Given the description of an element on the screen output the (x, y) to click on. 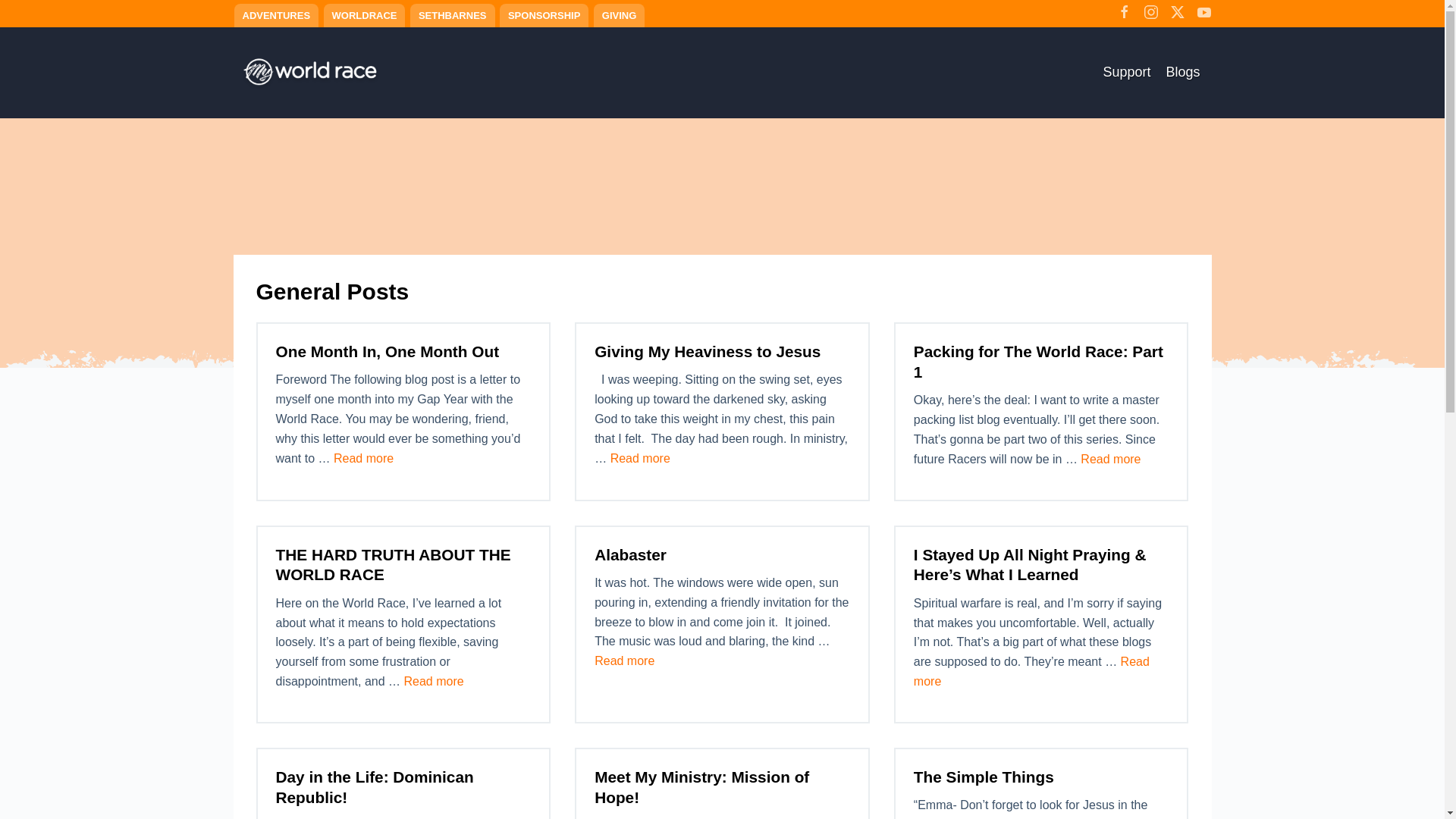
One Month In, One Month Out (387, 351)
WORLDRACE (1110, 459)
Skip to main content (364, 15)
Blogs (623, 660)
The Simple Things (543, 15)
Support (1182, 71)
Giving My Heaviness to Jesus (984, 776)
THE HARD TRUTH ABOUT THE WORLD RACE (639, 458)
Alabaster (363, 458)
